Given the description of an element on the screen output the (x, y) to click on. 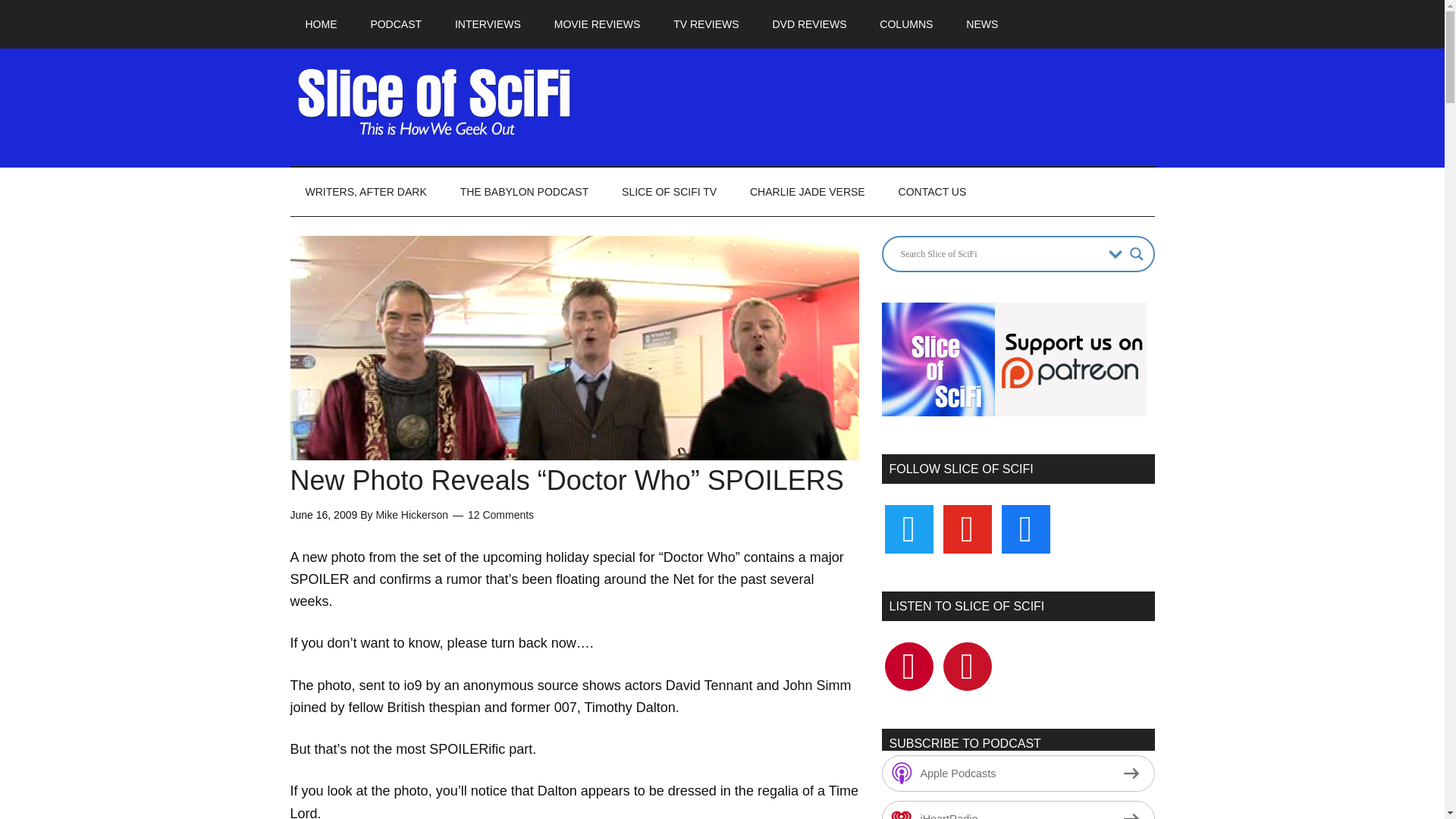
Subscribe on iHeartRadio (1017, 809)
Facebook (908, 665)
WRITERS, AFTER DARK (365, 191)
Instagram (967, 527)
SLICE OF SCIFI TV (669, 191)
COLUMNS (905, 24)
THE BABYLON PODCAST (524, 191)
HOME (320, 24)
Posts by Mike Hickerson (411, 514)
Twitter (967, 665)
CONTACT US (932, 191)
Twitter (908, 527)
Slice of SciFi (433, 101)
DVD REVIEWS (809, 24)
Facebook (1025, 527)
